Given the description of an element on the screen output the (x, y) to click on. 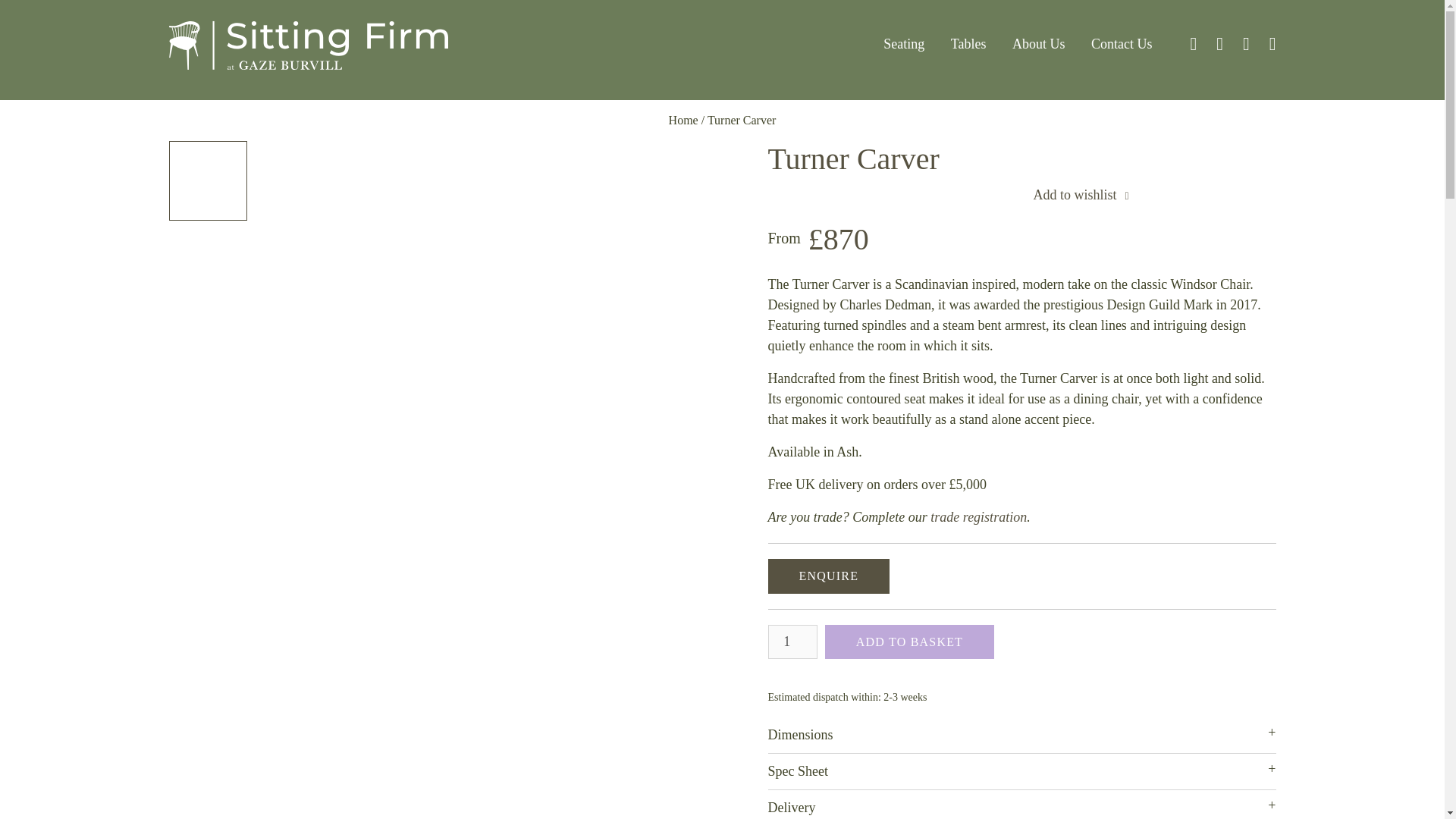
About Us (1038, 59)
1 (791, 641)
trade registration (978, 516)
Dimensions (1021, 734)
Home (683, 119)
Spec Sheet (1021, 771)
Add to wishlist (1082, 195)
ENQUIRE (828, 575)
ADD TO BASKET (909, 641)
Contact Us (1121, 59)
